Given the description of an element on the screen output the (x, y) to click on. 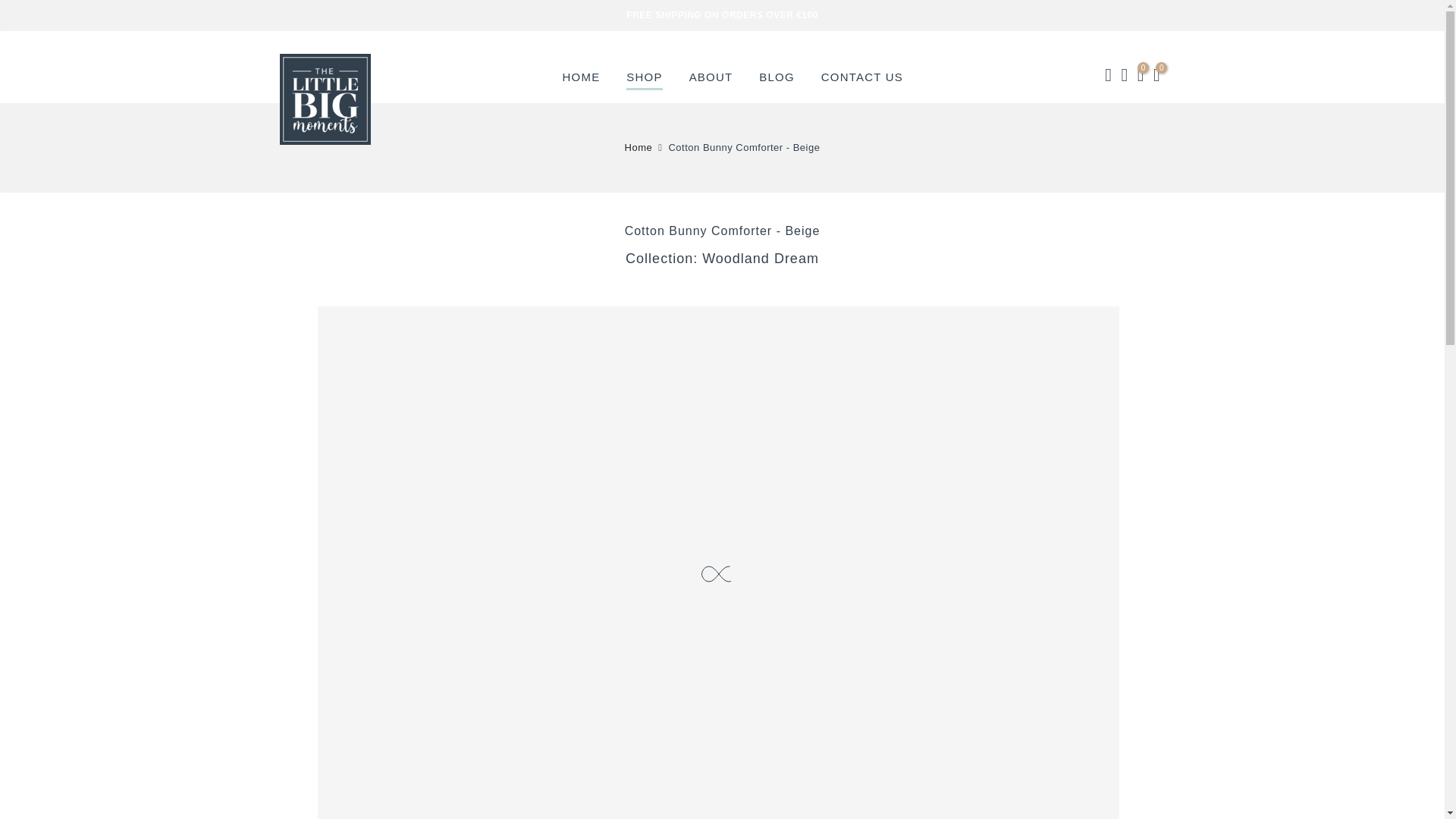
Home (638, 147)
SHOP (644, 76)
BLOG (775, 76)
ABOUT (710, 76)
CONTACT US (861, 76)
HOME (580, 76)
